Given the description of an element on the screen output the (x, y) to click on. 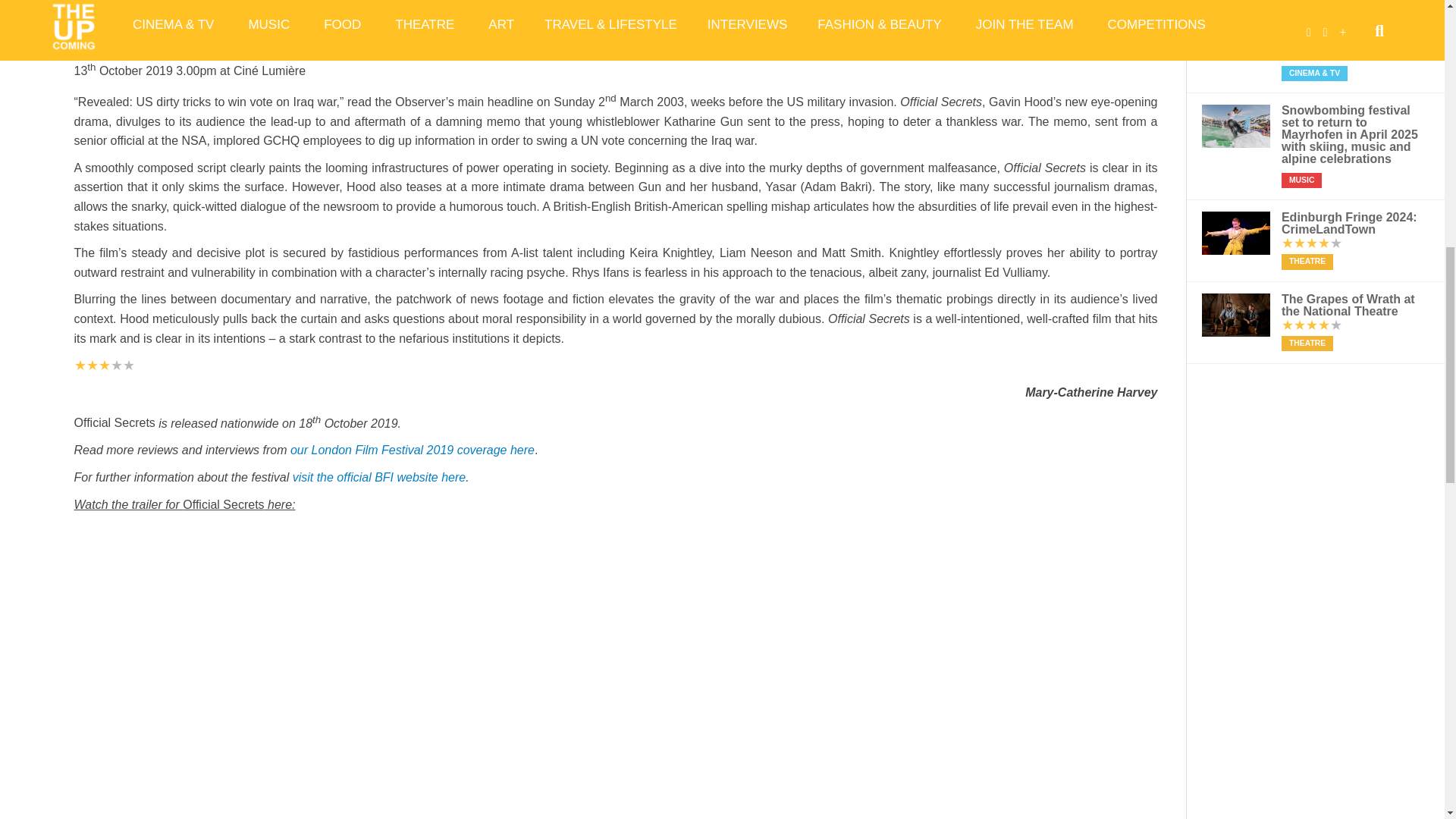
3 out of 5 stars (104, 364)
